Given the description of an element on the screen output the (x, y) to click on. 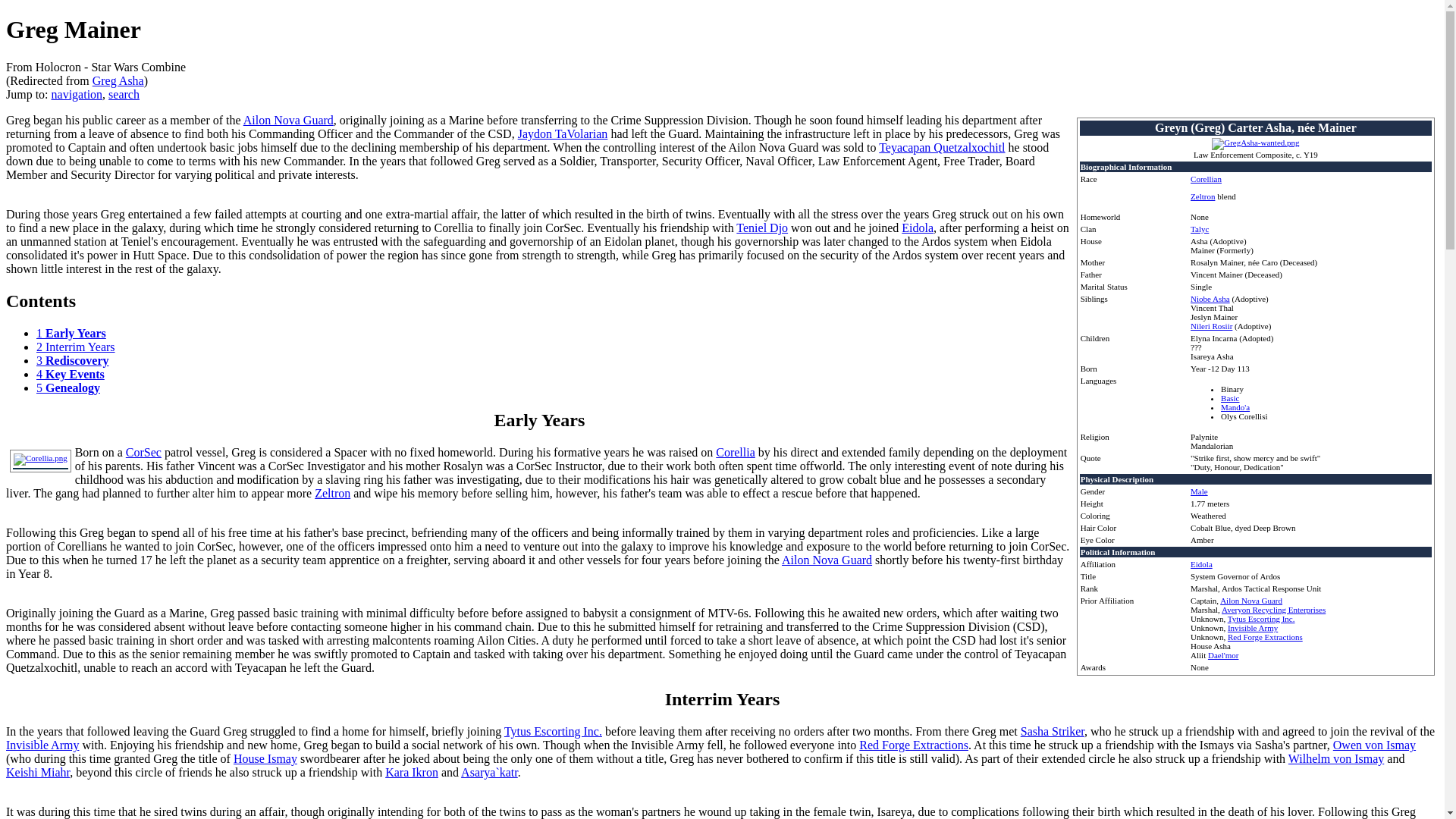
Corellia (735, 451)
2 Interrim Years (75, 346)
Zeltron (1202, 195)
Corellian (1206, 178)
Category:Males (1199, 491)
Teniel Djo (761, 227)
Niobe Asha (1210, 298)
Tytus Escorting Inc. (552, 730)
Invisible Army (1252, 627)
Ailon Nova Guard (1251, 600)
